Given the description of an element on the screen output the (x, y) to click on. 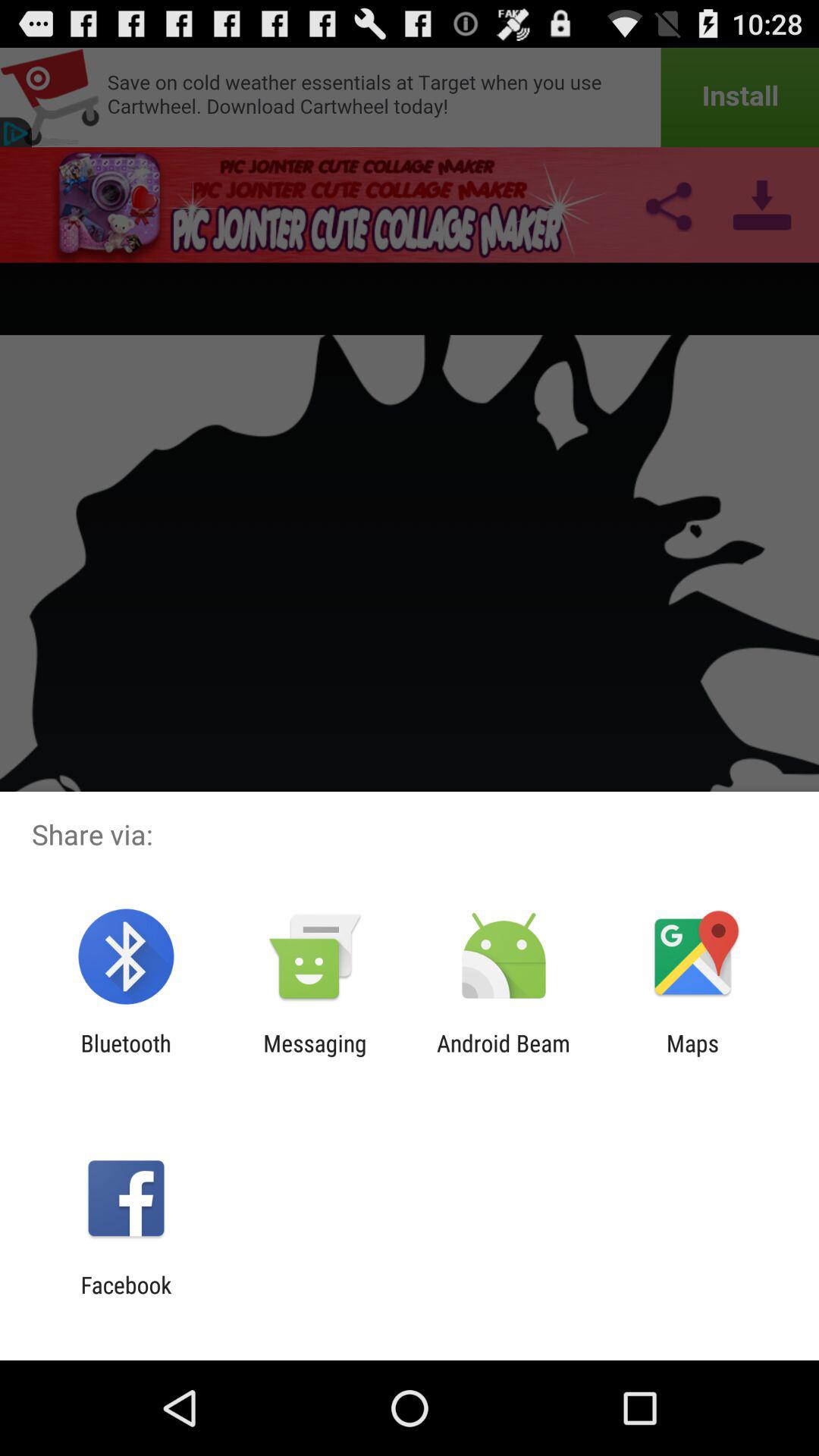
flip until the bluetooth app (125, 1056)
